Given the description of an element on the screen output the (x, y) to click on. 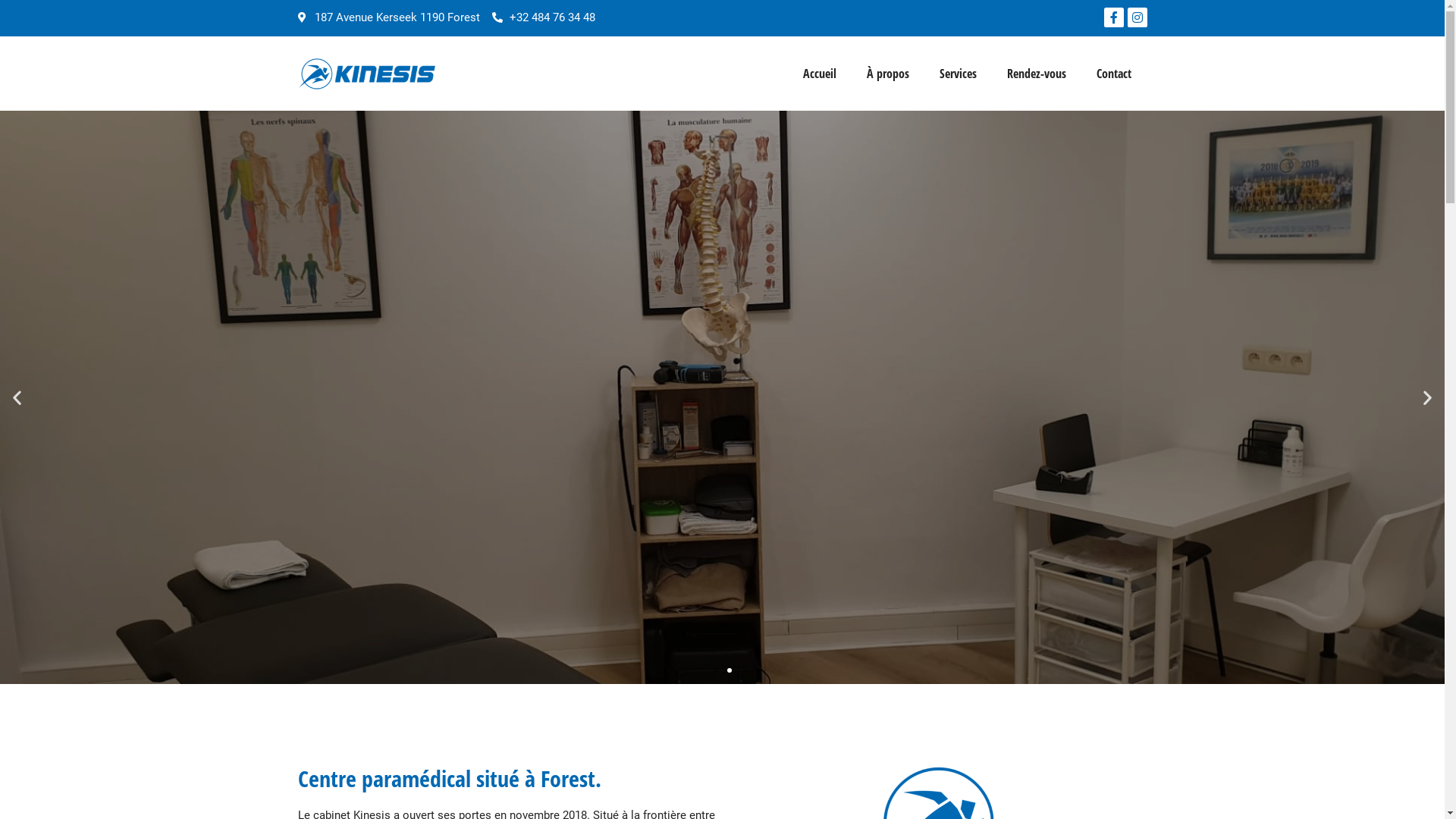
Contact Element type: text (1113, 73)
Rendez-vous Element type: text (1036, 73)
187 Avenue Kerseek 1190 Forest Element type: text (388, 17)
Accueil Element type: text (819, 73)
Services Element type: text (957, 73)
